Given the description of an element on the screen output the (x, y) to click on. 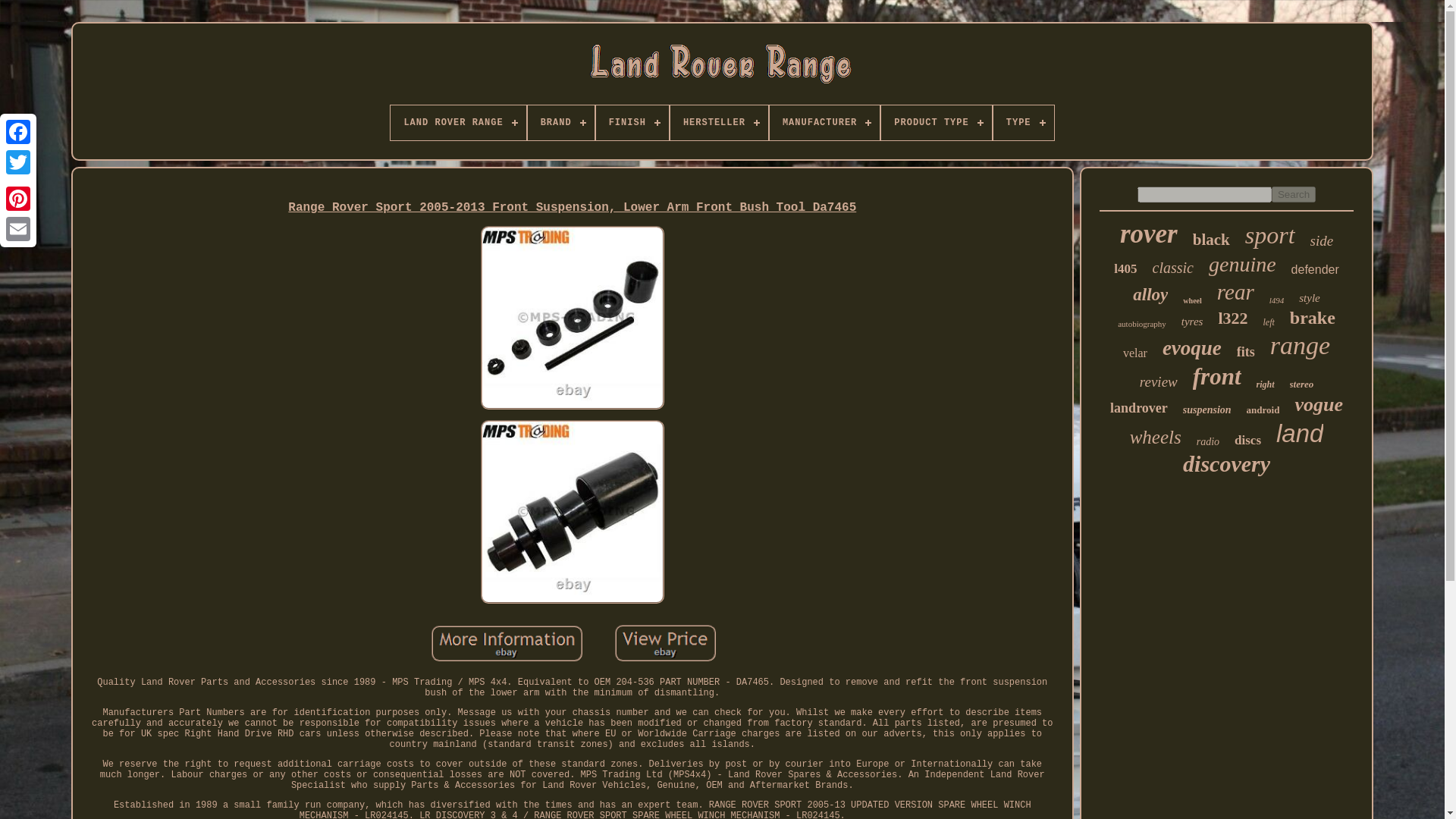
BRAND (560, 122)
FINISH (631, 122)
Search (1293, 194)
Twitter (17, 162)
LAND ROVER RANGE (457, 122)
